Given the description of an element on the screen output the (x, y) to click on. 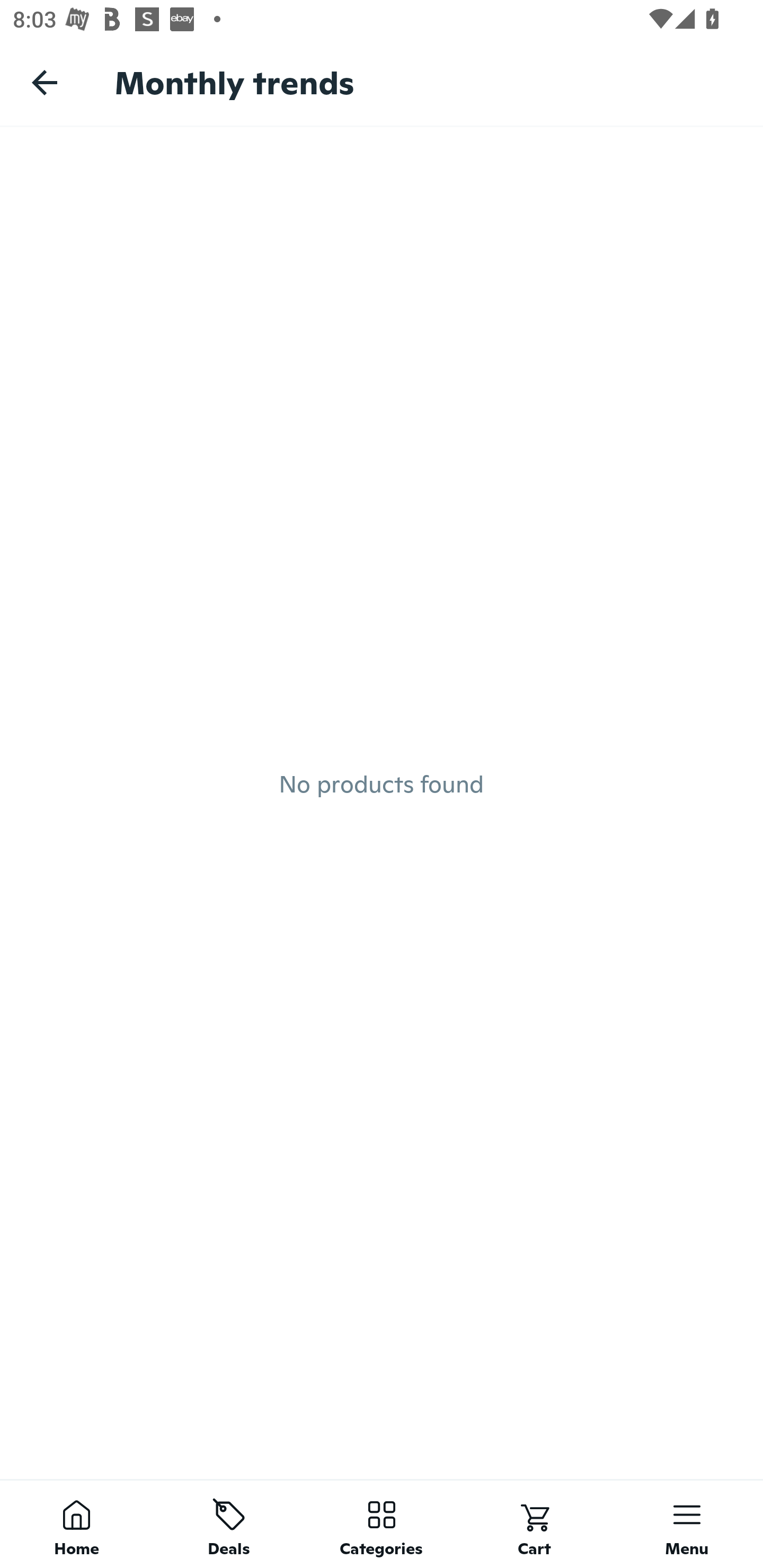
Navigate up (44, 82)
Home (76, 1523)
Deals (228, 1523)
Categories (381, 1523)
Cart (533, 1523)
Menu (686, 1523)
